Given the description of an element on the screen output the (x, y) to click on. 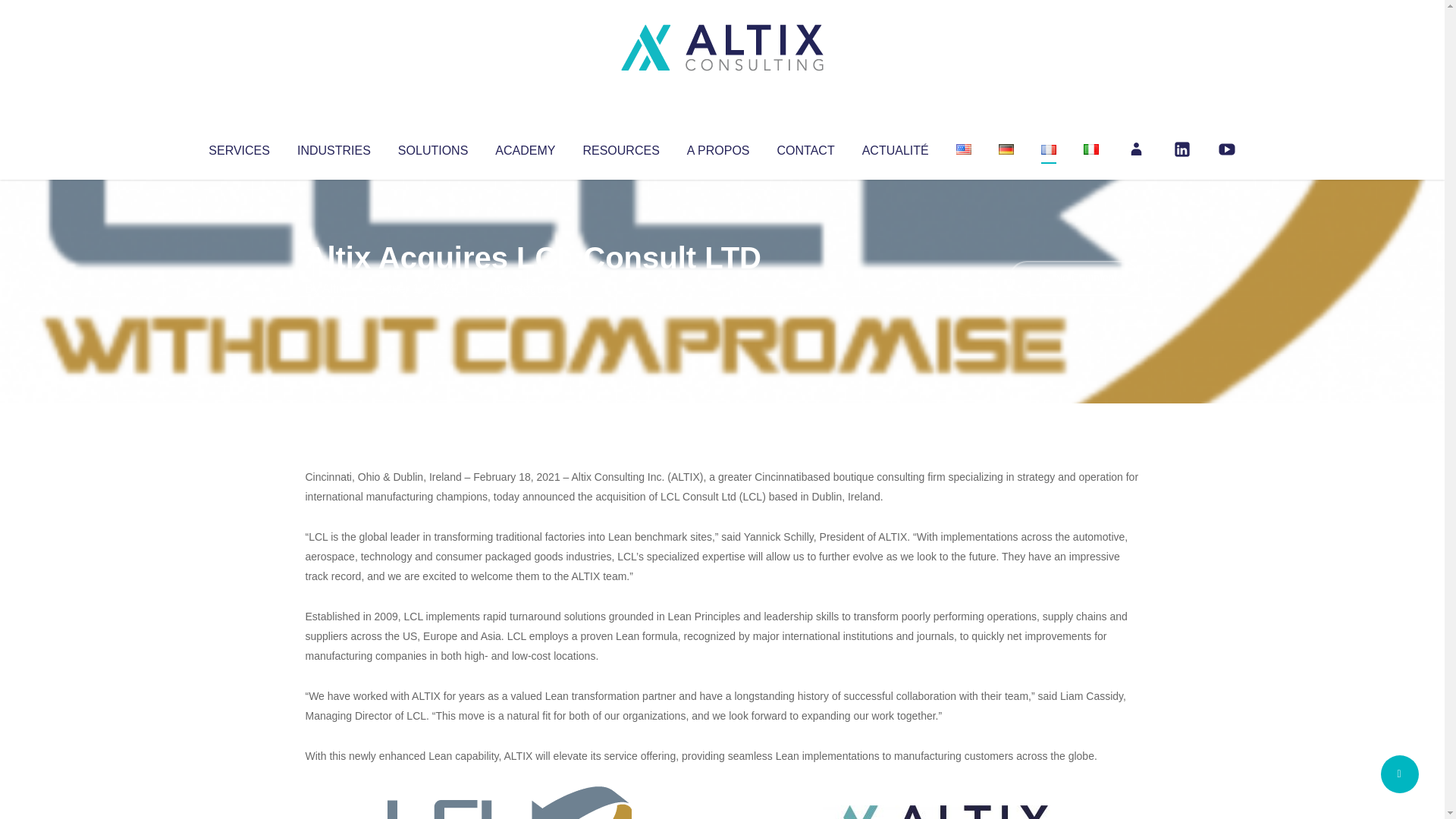
RESOURCES (620, 146)
SOLUTIONS (432, 146)
ACADEMY (524, 146)
Uncategorized (530, 287)
A PROPOS (718, 146)
No Comments (1073, 278)
INDUSTRIES (334, 146)
Articles par Altix (333, 287)
Altix (333, 287)
SERVICES (238, 146)
